Given the description of an element on the screen output the (x, y) to click on. 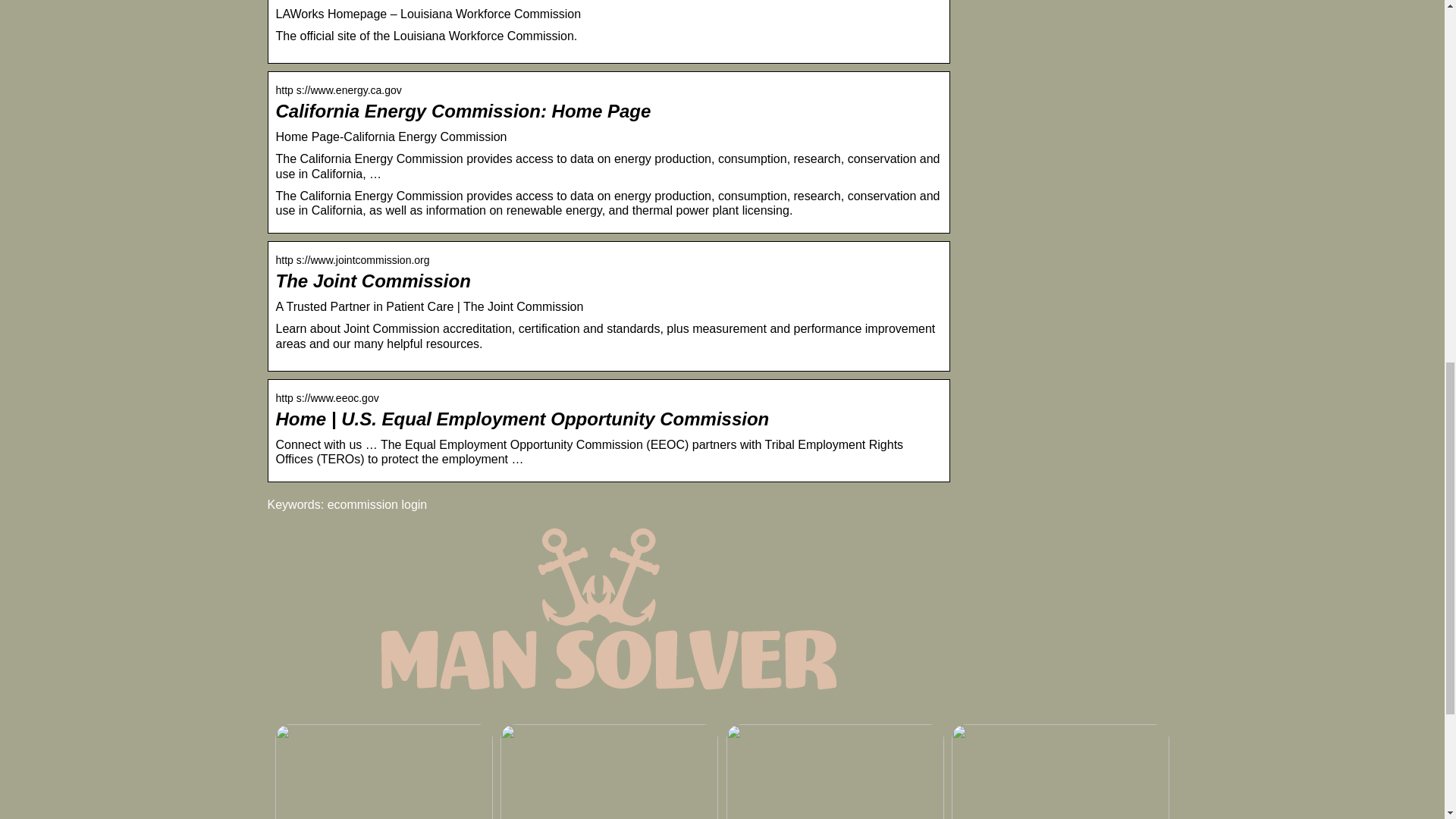
Never compromise on your wedding suit (1060, 771)
Get ready for a long camping season in the great outdoors (834, 771)
